Given the description of an element on the screen output the (x, y) to click on. 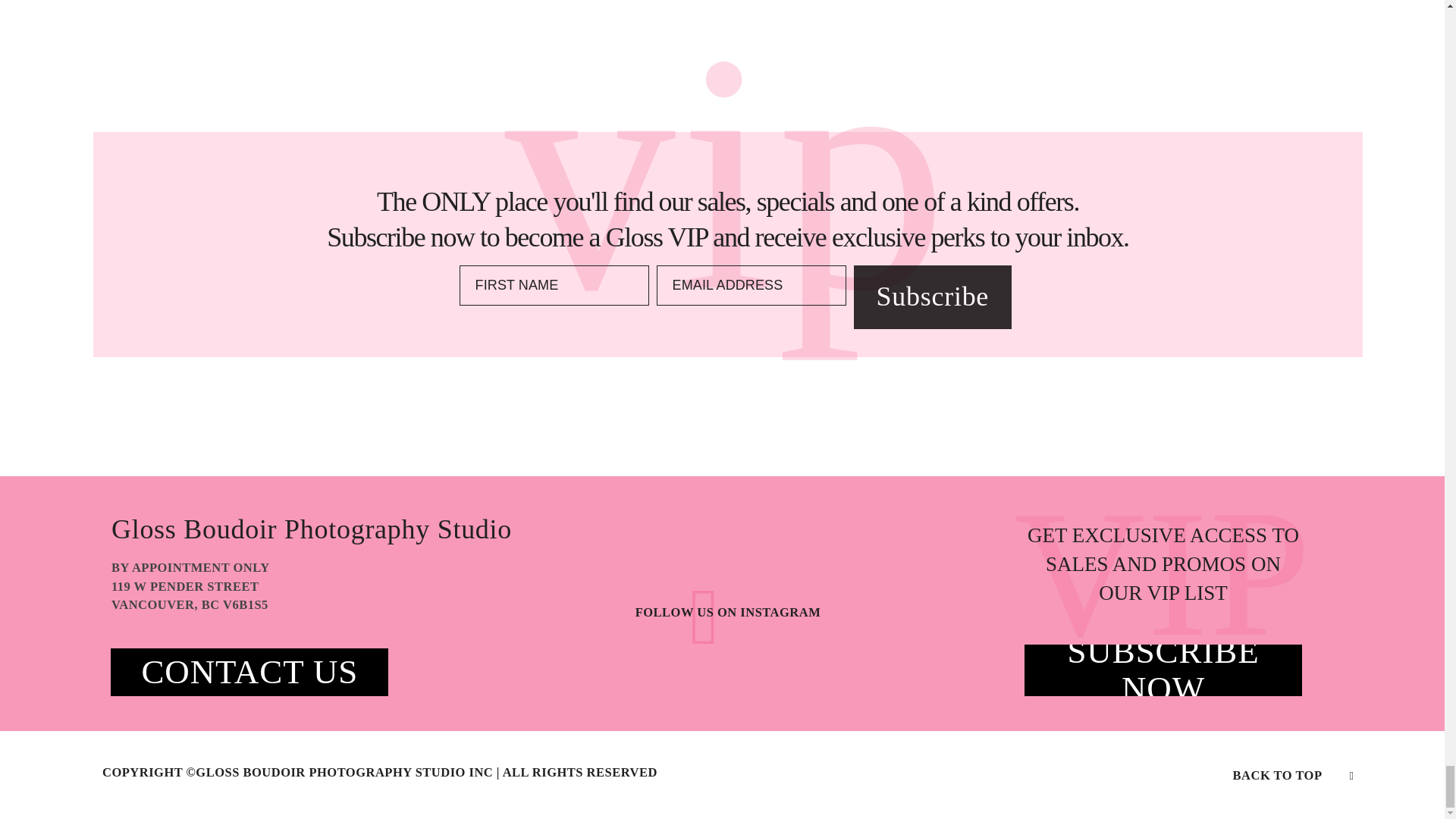
FOLLOW US ON INSTAGRAM (727, 612)
SUBSCRIBE NOW (1163, 669)
CONTACT US (249, 672)
Gloss Boudoir Photography Studio (322, 529)
Subscribe (932, 297)
BACK TO TOP (1293, 774)
BACK TO TOP (1277, 775)
